Given the description of an element on the screen output the (x, y) to click on. 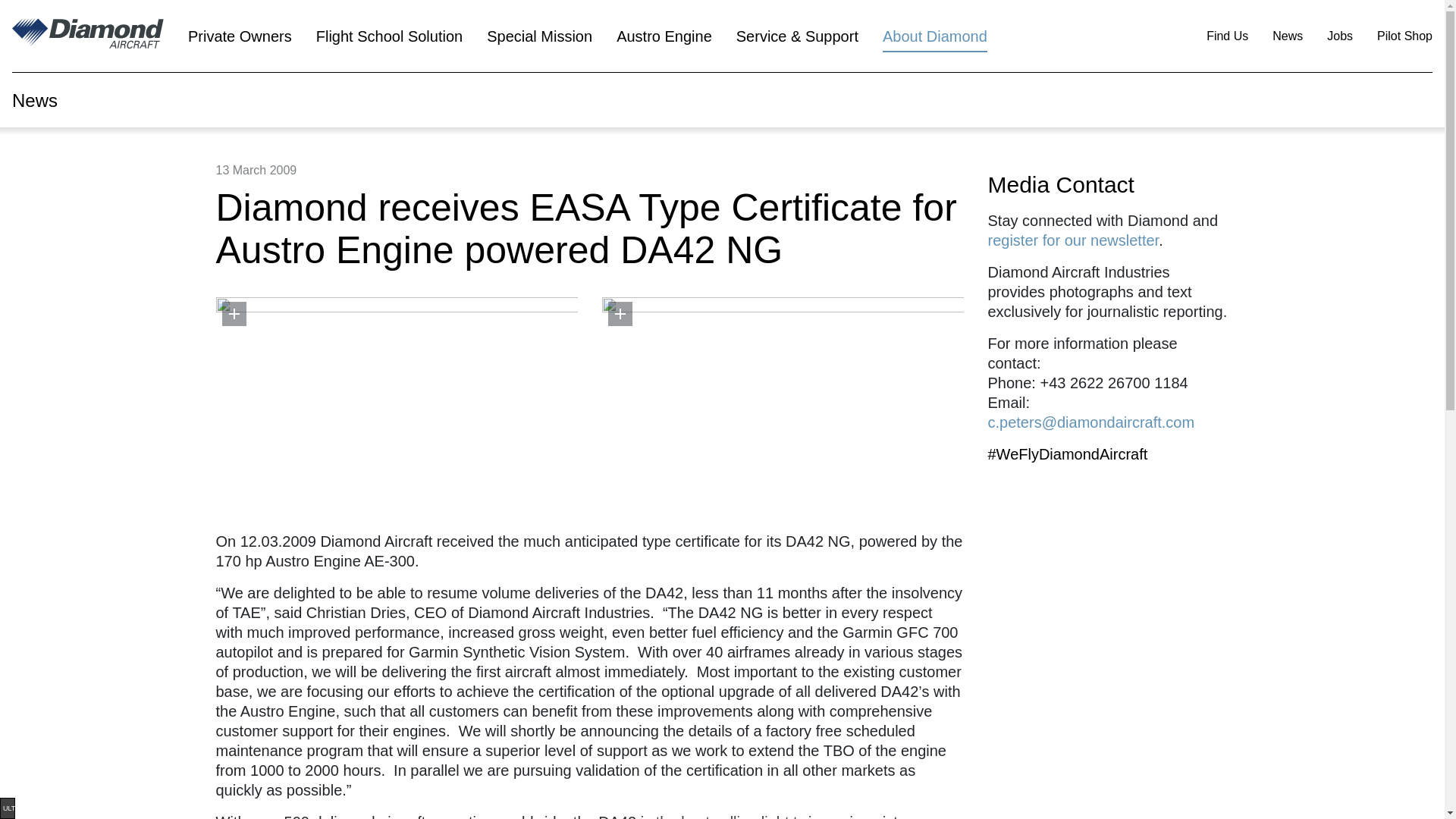
Special Mission (539, 36)
Private Owners (240, 36)
Austro Engine (663, 36)
About Diamond (934, 36)
Flight School Solution (389, 36)
